Given the description of an element on the screen output the (x, y) to click on. 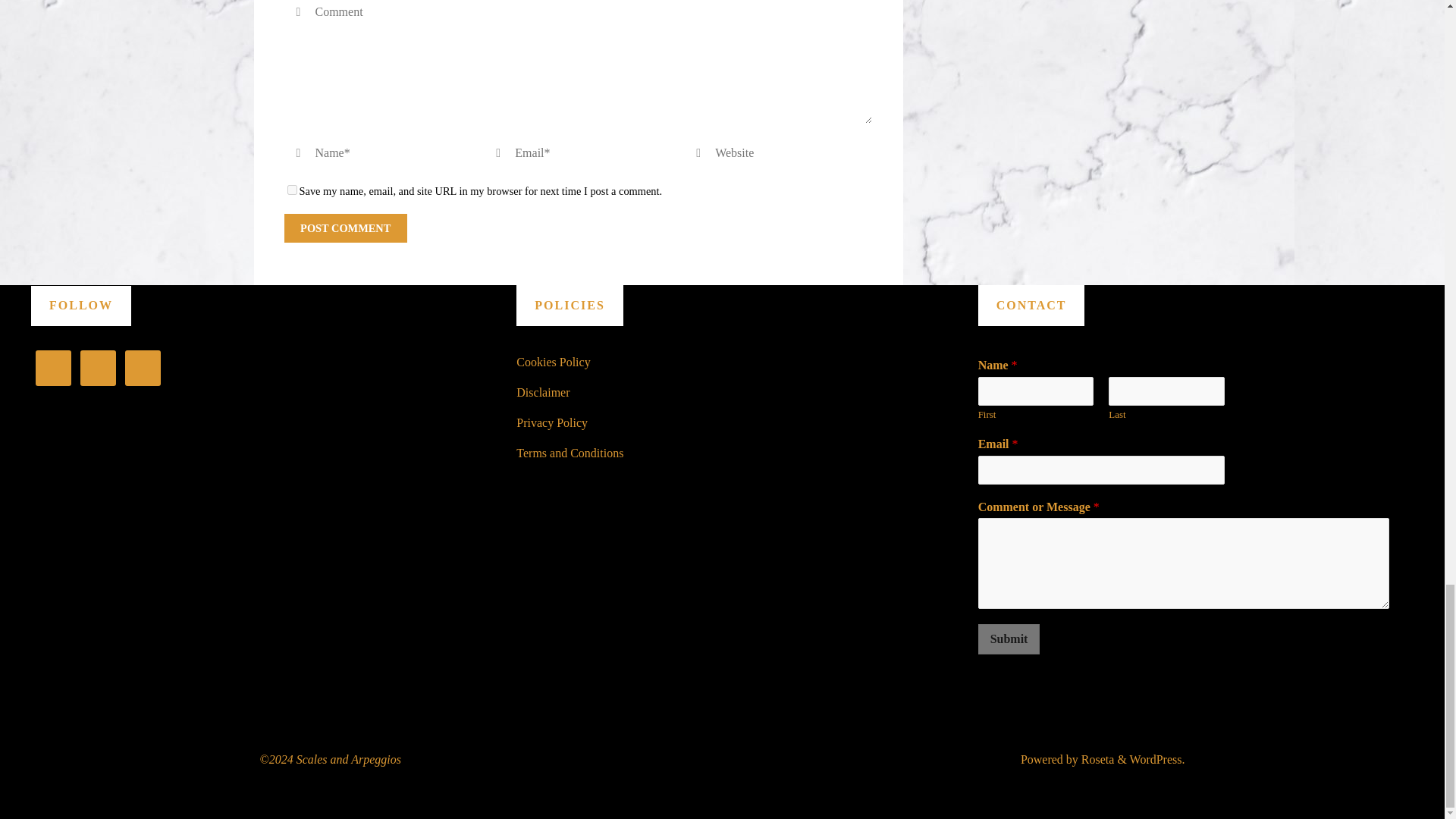
Post Comment (344, 228)
Semantic Personal Publishing Platform (1155, 758)
yes (291, 189)
Roseta WordPress Theme by Cryout Creations (1096, 758)
